Given the description of an element on the screen output the (x, y) to click on. 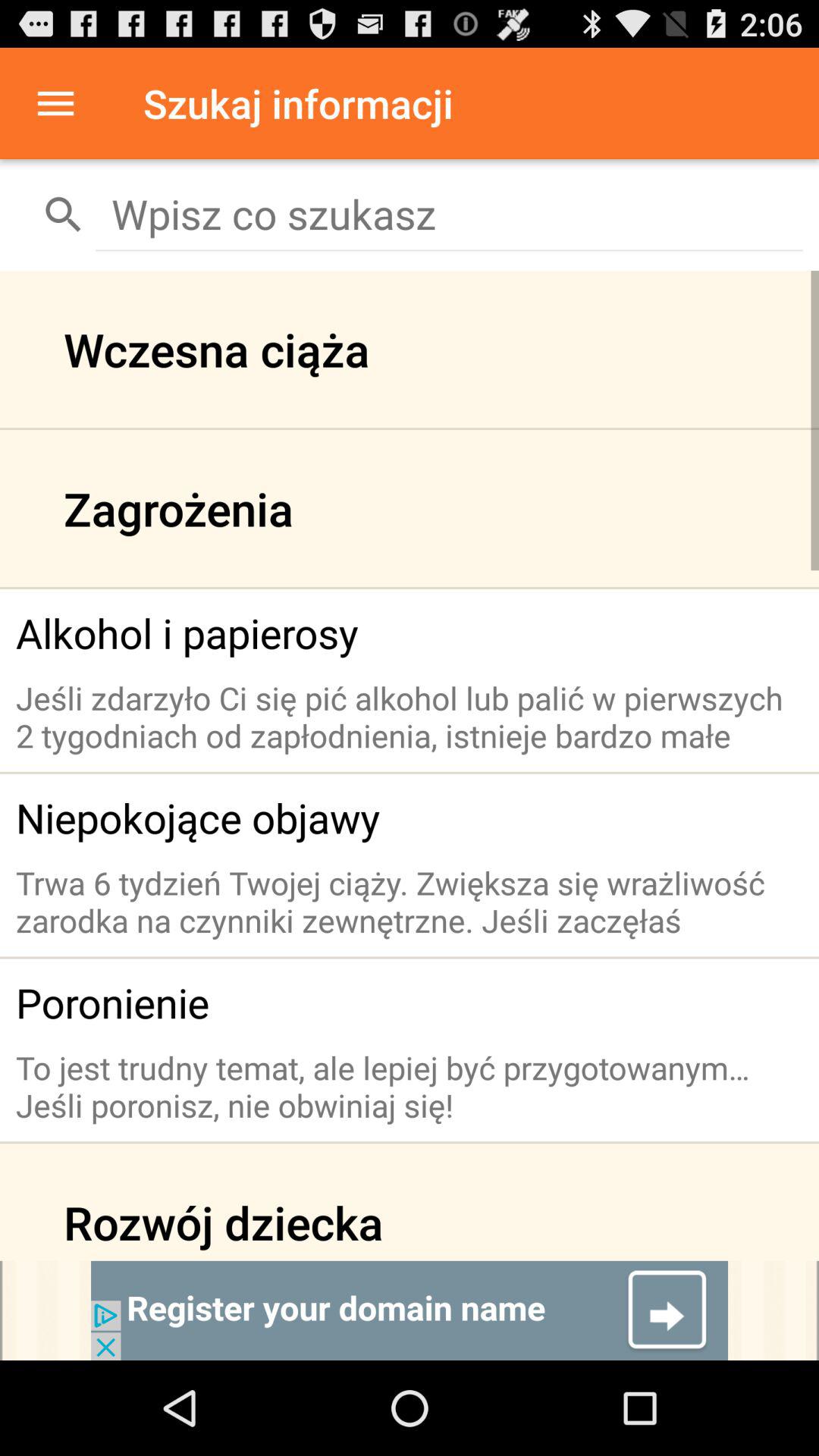
click on search icon in top (63, 214)
